Given the description of an element on the screen output the (x, y) to click on. 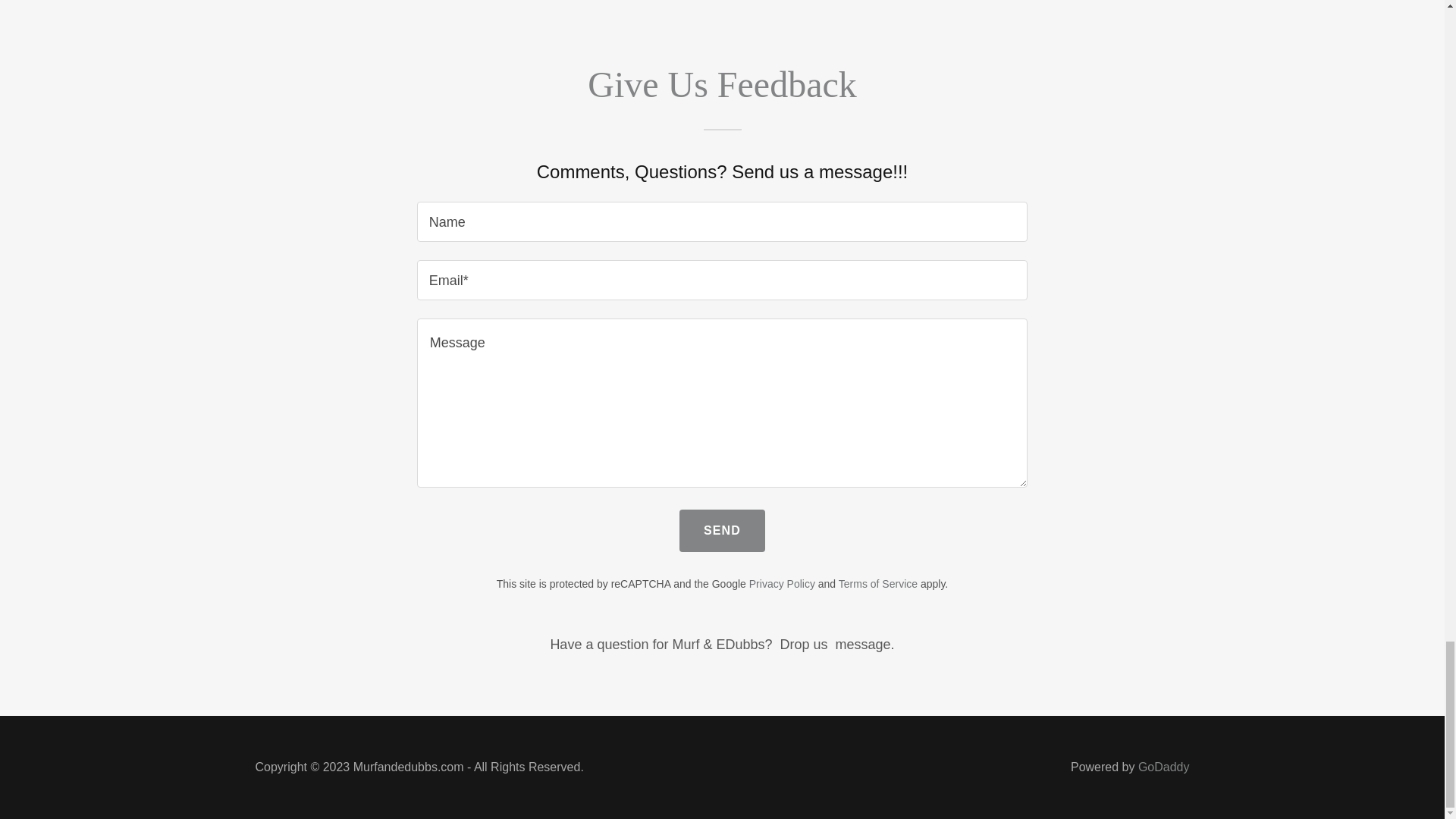
Privacy Policy (782, 583)
GoDaddy (1163, 766)
SEND (722, 530)
Terms of Service (877, 583)
